Given the description of an element on the screen output the (x, y) to click on. 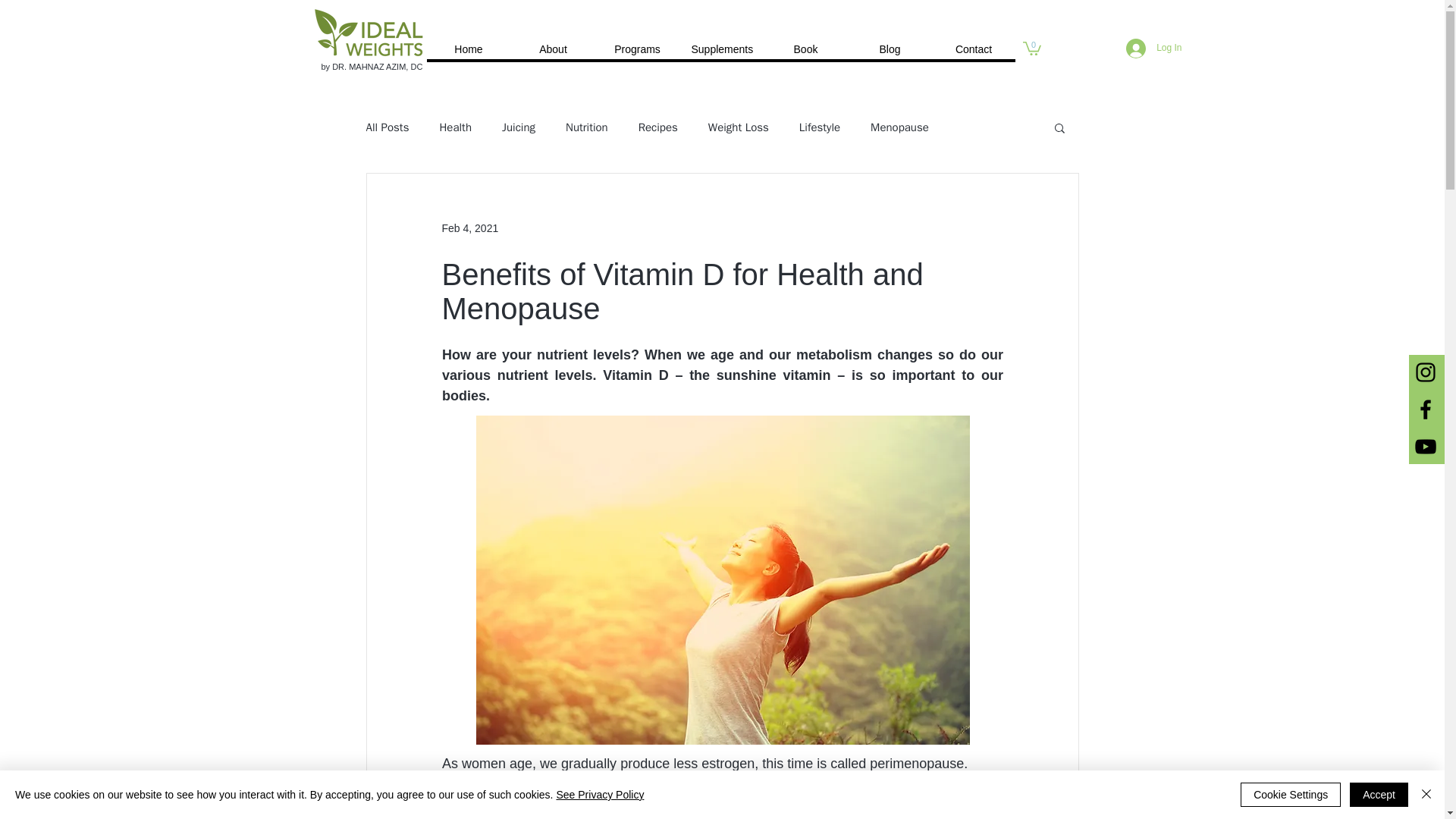
Lifestyle (819, 127)
All Posts (387, 127)
Health (455, 127)
Supplements (720, 49)
About (553, 49)
Feb 4, 2021 (469, 227)
Log In (1153, 47)
Recipes (658, 127)
Contact (972, 49)
Blog (889, 49)
Nutrition (587, 127)
Book (804, 49)
Home (468, 49)
0 (1031, 47)
Menopause (899, 127)
